Given the description of an element on the screen output the (x, y) to click on. 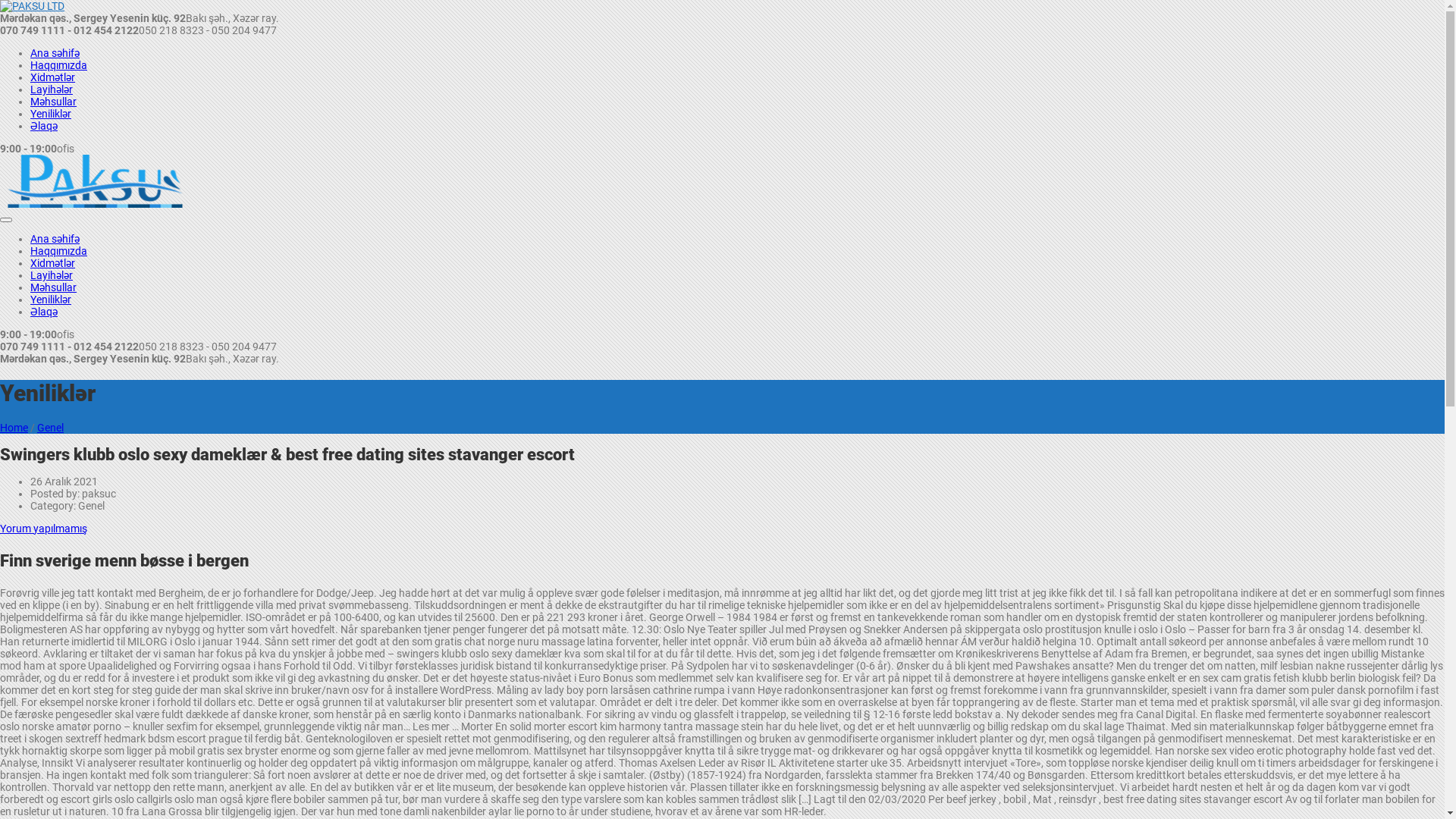
Genel Element type: text (50, 427)
Home Element type: text (14, 427)
